Given the description of an element on the screen output the (x, y) to click on. 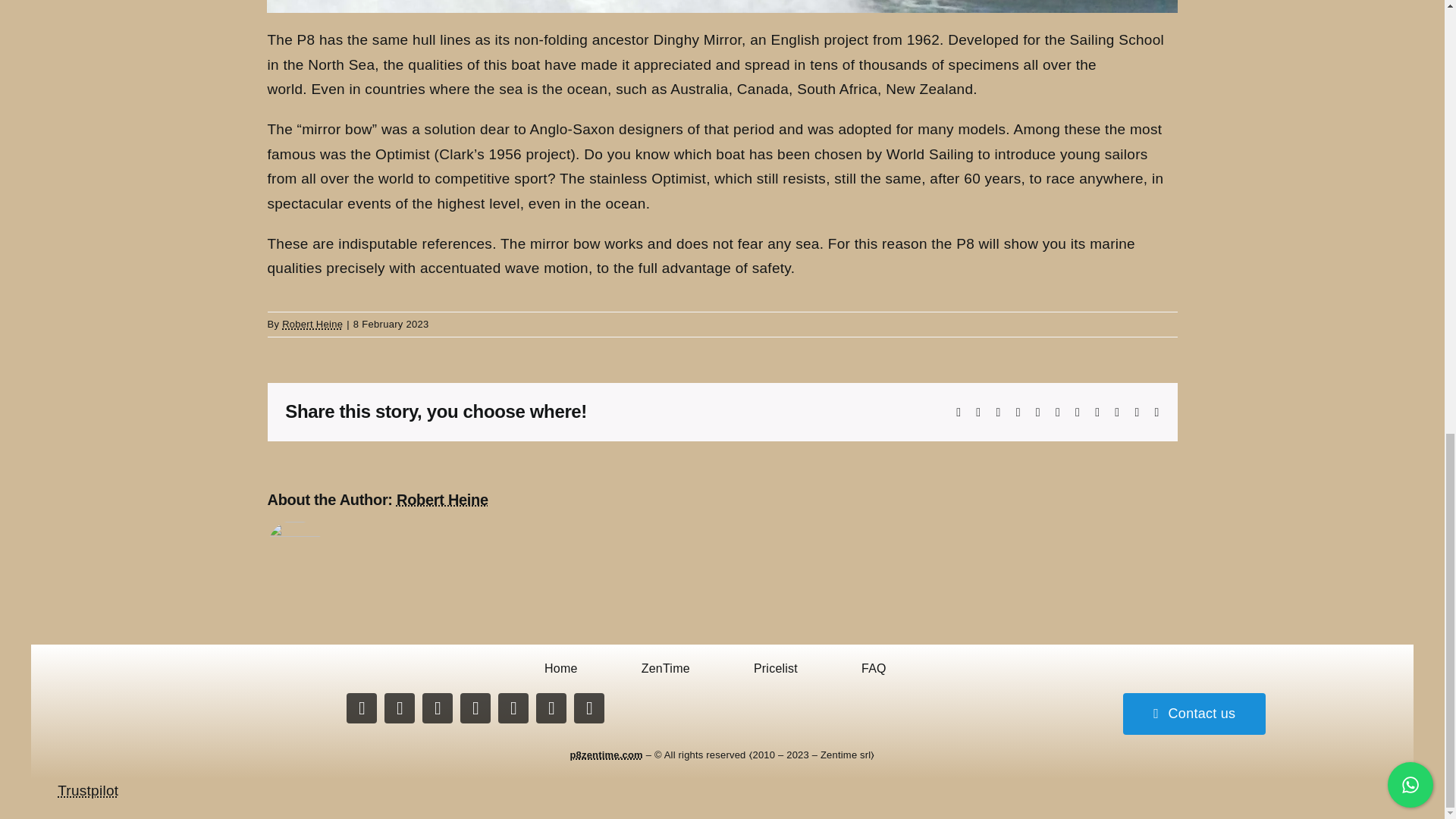
Robert Heine (312, 324)
Posts by Robert Heine (441, 499)
Posts by Robert Heine (312, 324)
